Given the description of an element on the screen output the (x, y) to click on. 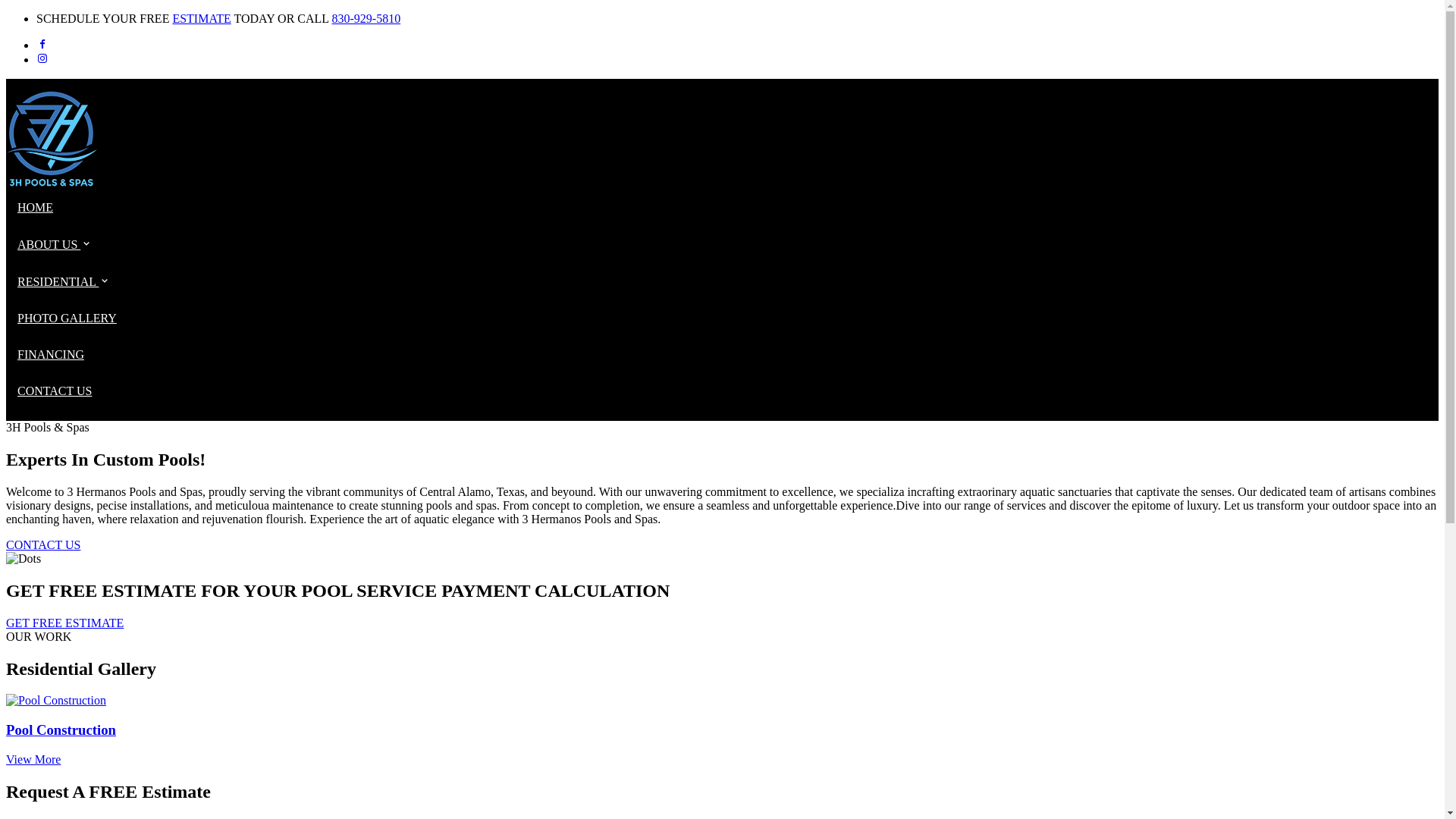
HOME Element type: text (35, 206)
GET FREE ESTIMATE Element type: text (64, 622)
830-929-5810 Element type: text (366, 18)
CONTACT US Element type: text (54, 390)
FINANCING Element type: text (50, 354)
CONTACT US Element type: text (43, 544)
PHOTO GALLERY Element type: text (66, 317)
ESTIMATE Element type: text (201, 18)
View More Element type: text (33, 759)
RESIDENTIAL Element type: text (63, 281)
Pool Construction Element type: text (722, 729)
ABOUT US Element type: text (54, 244)
